Given the description of an element on the screen output the (x, y) to click on. 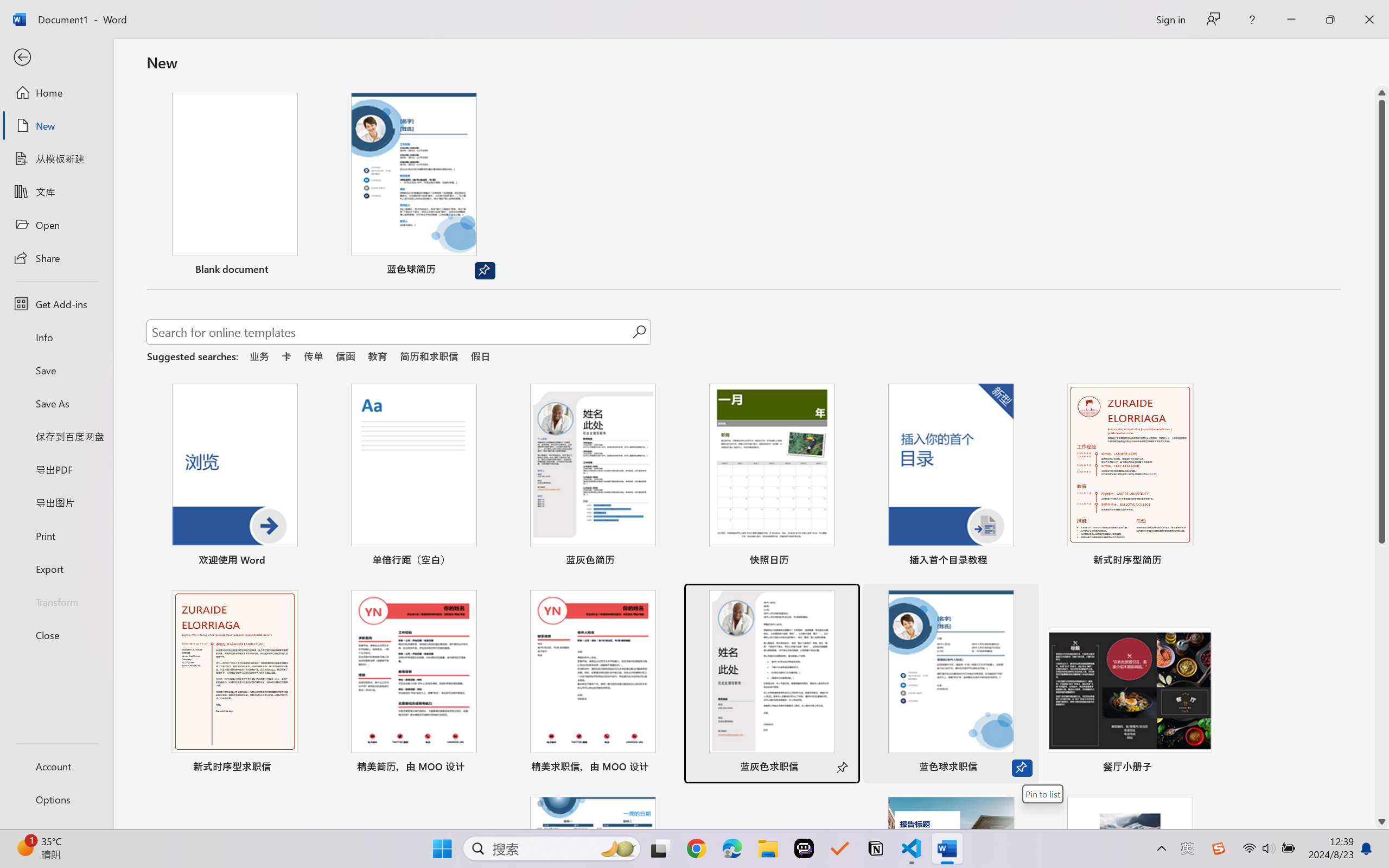
Line down (1382, 821)
Info (56, 337)
Get Add-ins (56, 303)
Account (56, 765)
Blank document (234, 185)
